Given the description of an element on the screen output the (x, y) to click on. 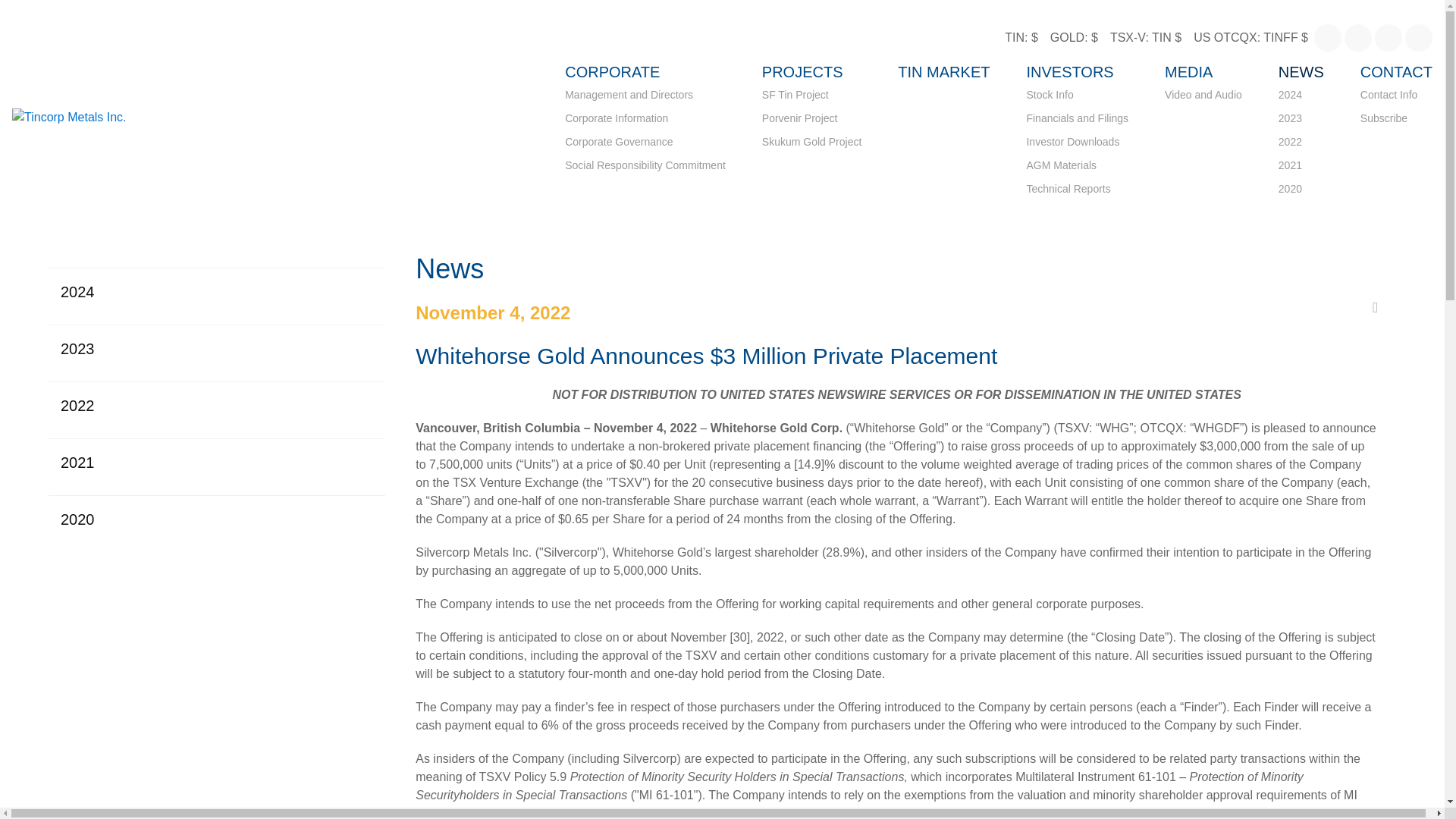
CONTACT (1395, 71)
Corporate Information (644, 118)
2021 (1300, 165)
Contact Info (1395, 95)
Skukum Gold Project (811, 141)
Video and Audio (1202, 95)
Visit our Twitter Page (1357, 37)
2024 (216, 291)
2024 (1300, 95)
CORPORATE (611, 71)
Visit our Facebook Page (1327, 37)
Visit our LinkedIn Page (1388, 37)
Stock Info (1077, 95)
AGM Materials (1077, 165)
2022 (1300, 141)
